Given the description of an element on the screen output the (x, y) to click on. 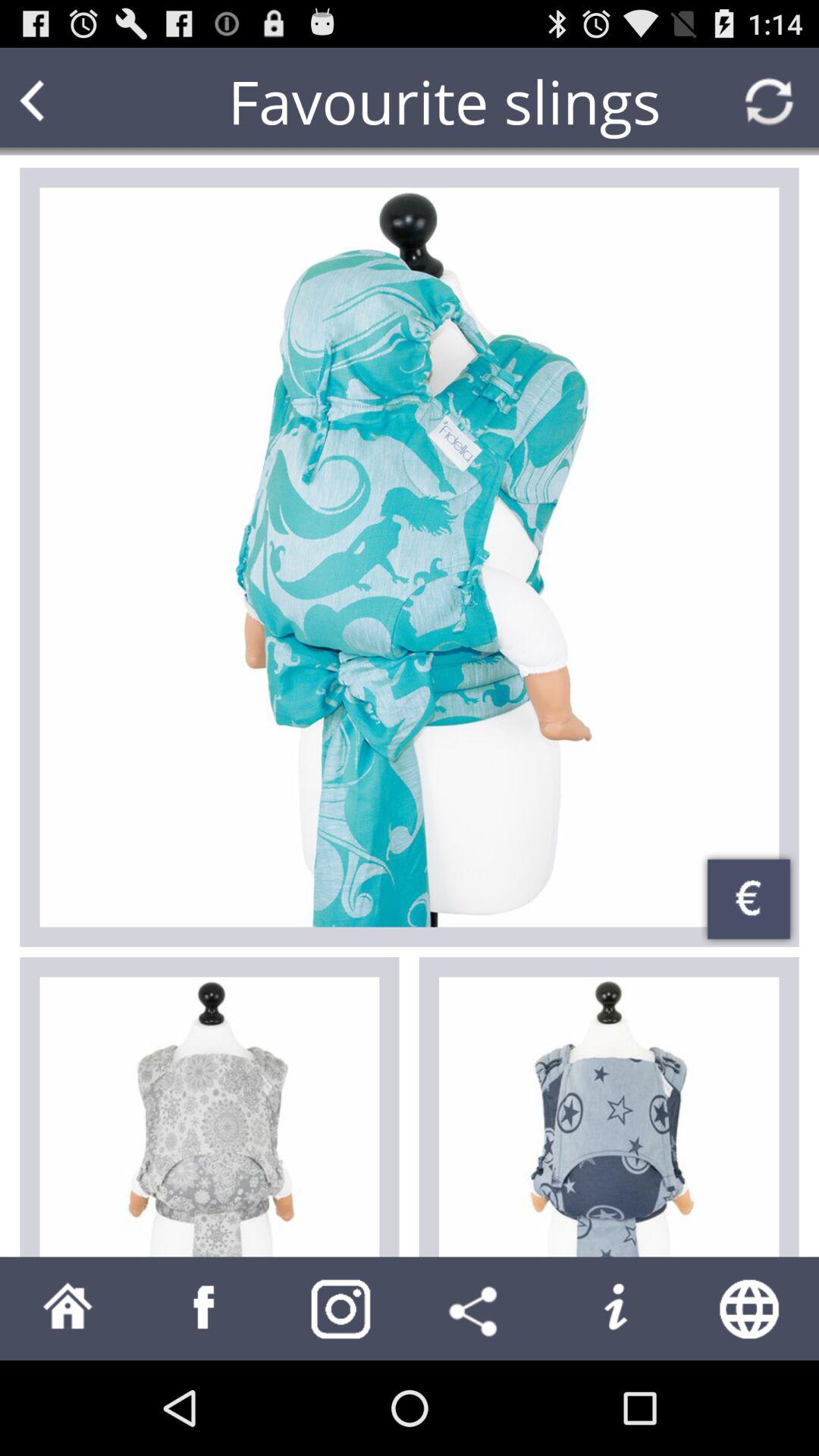
reload page (769, 101)
